Given the description of an element on the screen output the (x, y) to click on. 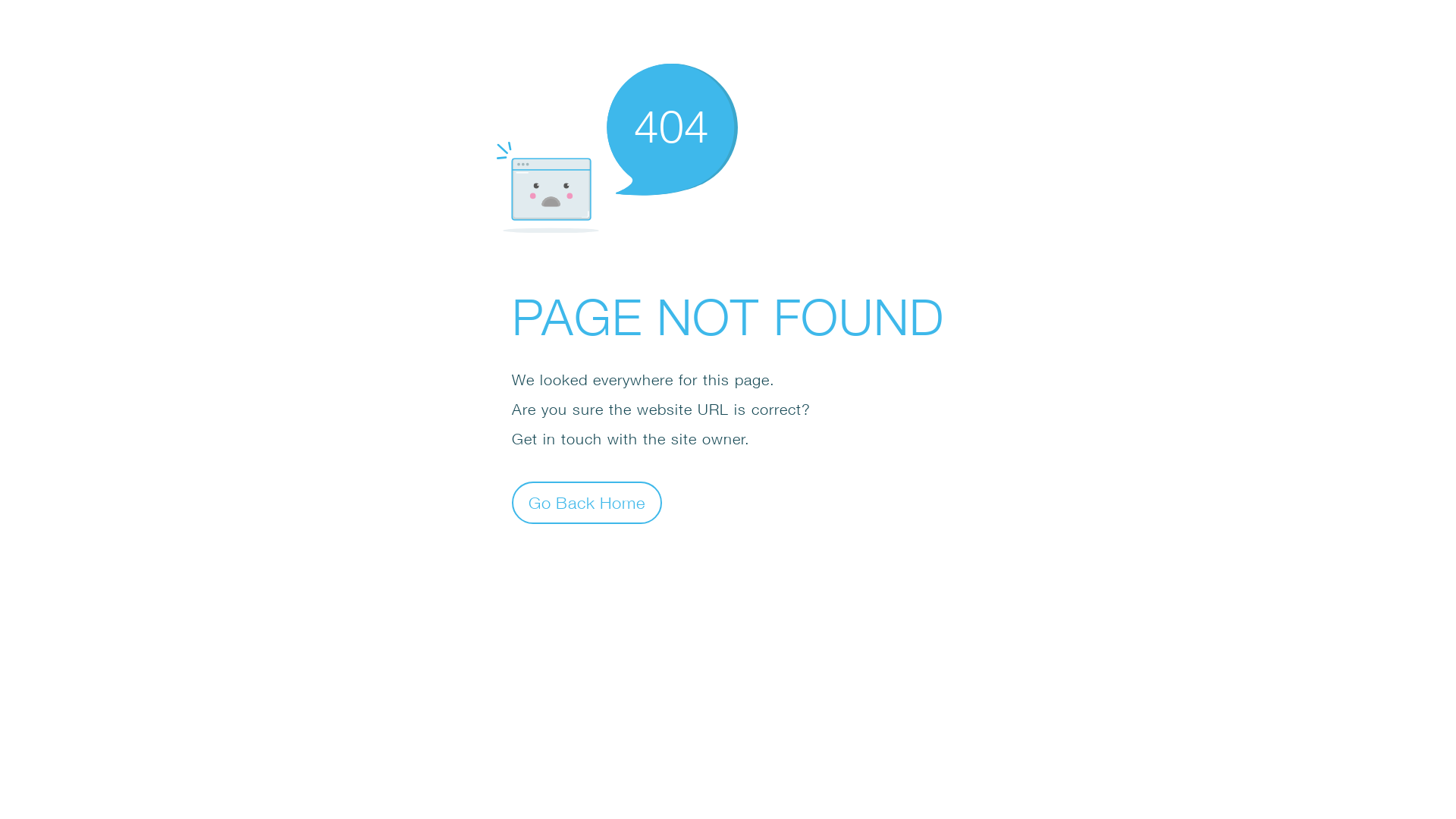
Go Back Home Element type: text (586, 502)
